Given the description of an element on the screen output the (x, y) to click on. 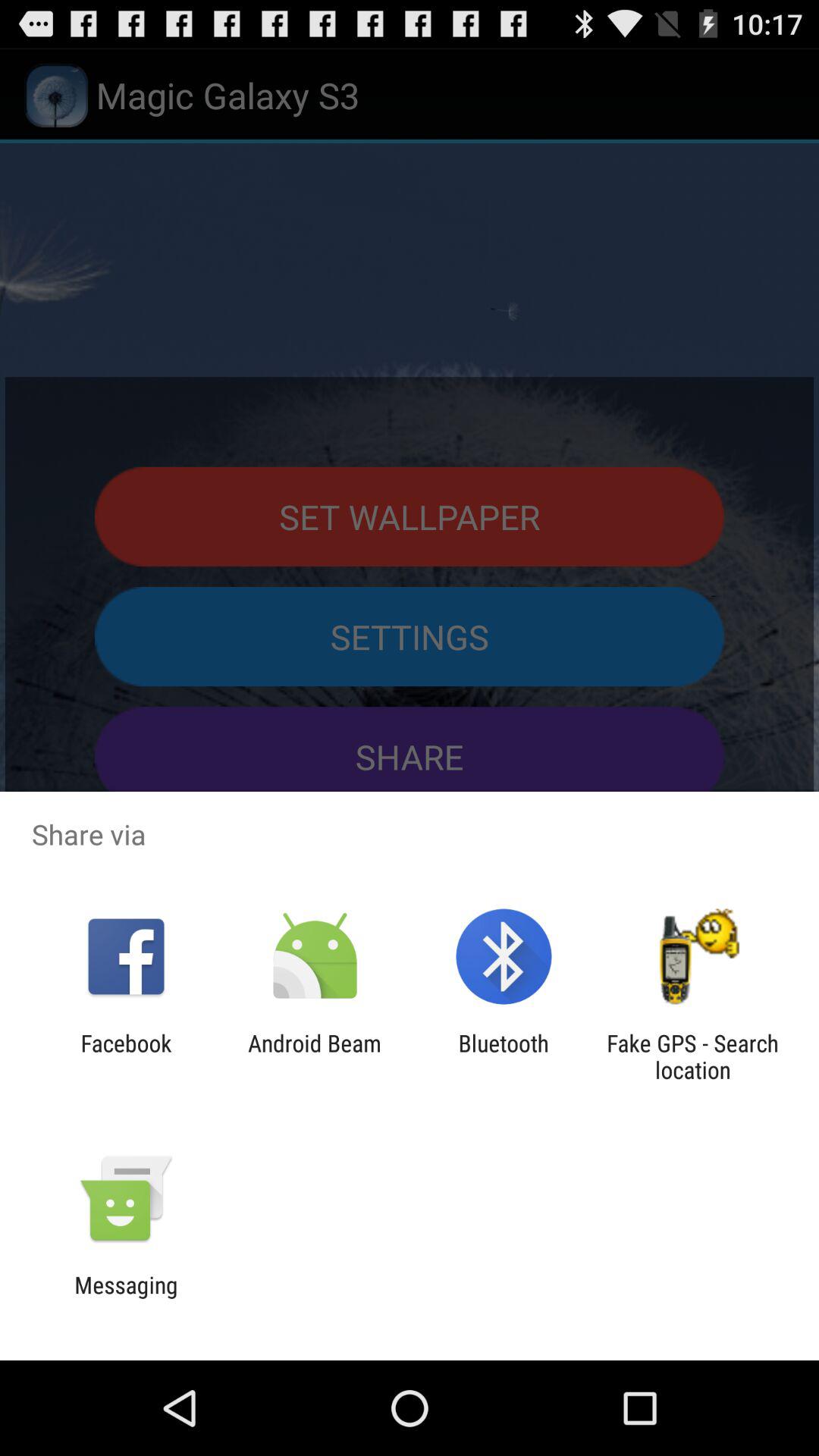
turn on app next to android beam item (503, 1056)
